Given the description of an element on the screen output the (x, y) to click on. 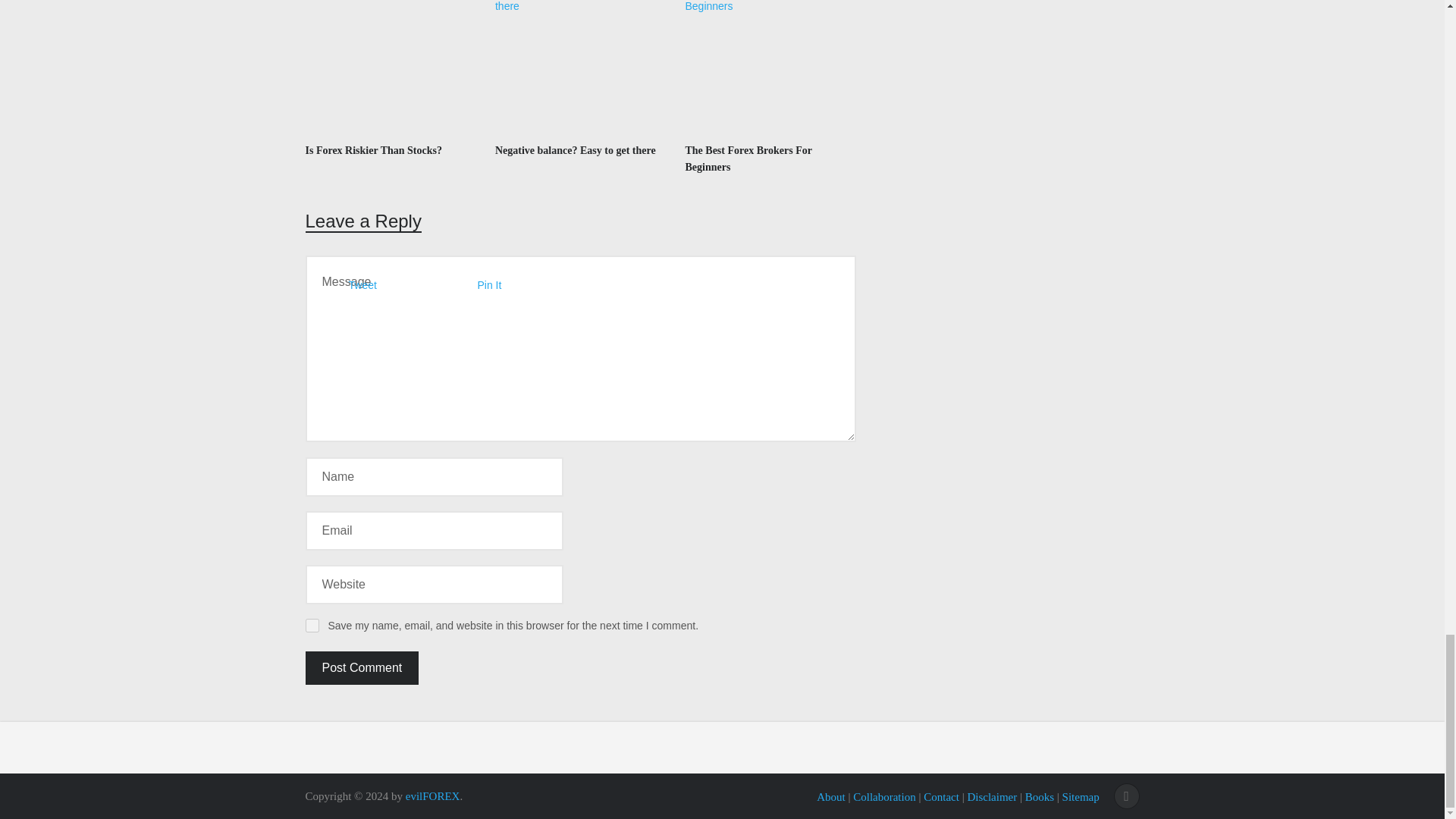
The Best Forex Brokers For Beginners (770, 67)
Post Comment (361, 667)
Books (1039, 797)
Contact (941, 797)
Negative balance? Easy to get there (575, 150)
The Best Forex Brokers For Beginners (747, 158)
Negative balance? Easy to get there (575, 150)
evilFOREX (433, 796)
Is Forex Riskier Than Stocks? (372, 150)
Negative balance? Easy to get there (580, 67)
Sitemap (1080, 797)
Collaboration (884, 797)
Is Forex Riskier Than Stocks? (390, 67)
yes (311, 625)
Disclaimer (991, 797)
